Given the description of an element on the screen output the (x, y) to click on. 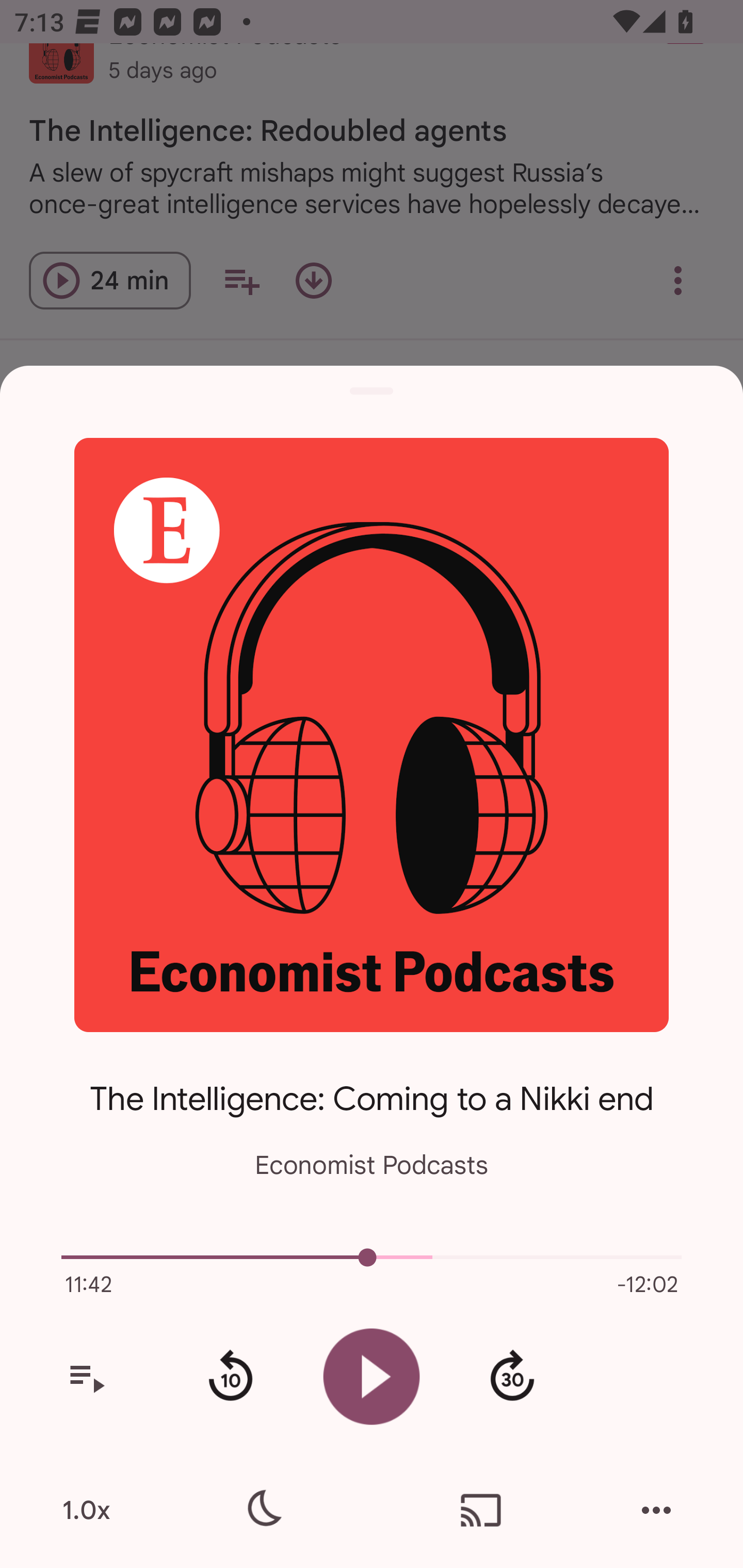
Open the show page for Economist Podcasts (371, 734)
4929.0 Current episode playback (371, 1257)
Play (371, 1376)
View your queue (86, 1376)
Rewind 10 seconds (230, 1376)
Fast forward 30 second (511, 1376)
1.0x Playback speed is 1.0. (86, 1510)
Sleep timer settings (261, 1510)
Cast. Disconnected (480, 1510)
More actions (655, 1510)
